Given the description of an element on the screen output the (x, y) to click on. 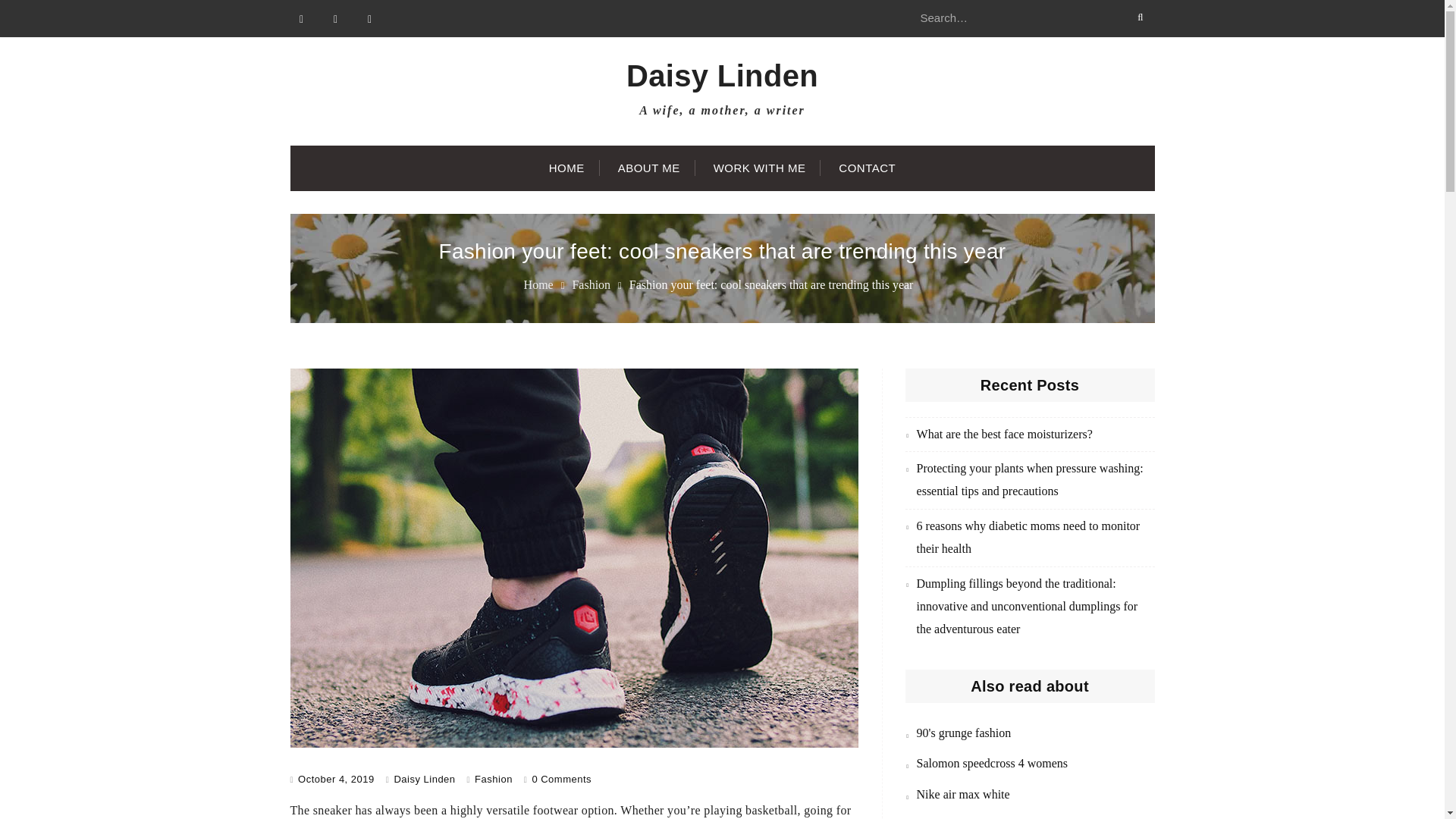
Daisy Linden (722, 75)
CONTACT (867, 168)
ABOUT ME (648, 168)
Fashion (493, 778)
October 4, 2019 (336, 778)
Search for: (1029, 18)
Daisy Linden (423, 778)
Fashion (591, 284)
Twitter (335, 18)
Instagram (369, 18)
Facebook (301, 18)
WORK WITH ME (759, 168)
0 Comments (561, 778)
Home (538, 284)
HOME (566, 168)
